Given the description of an element on the screen output the (x, y) to click on. 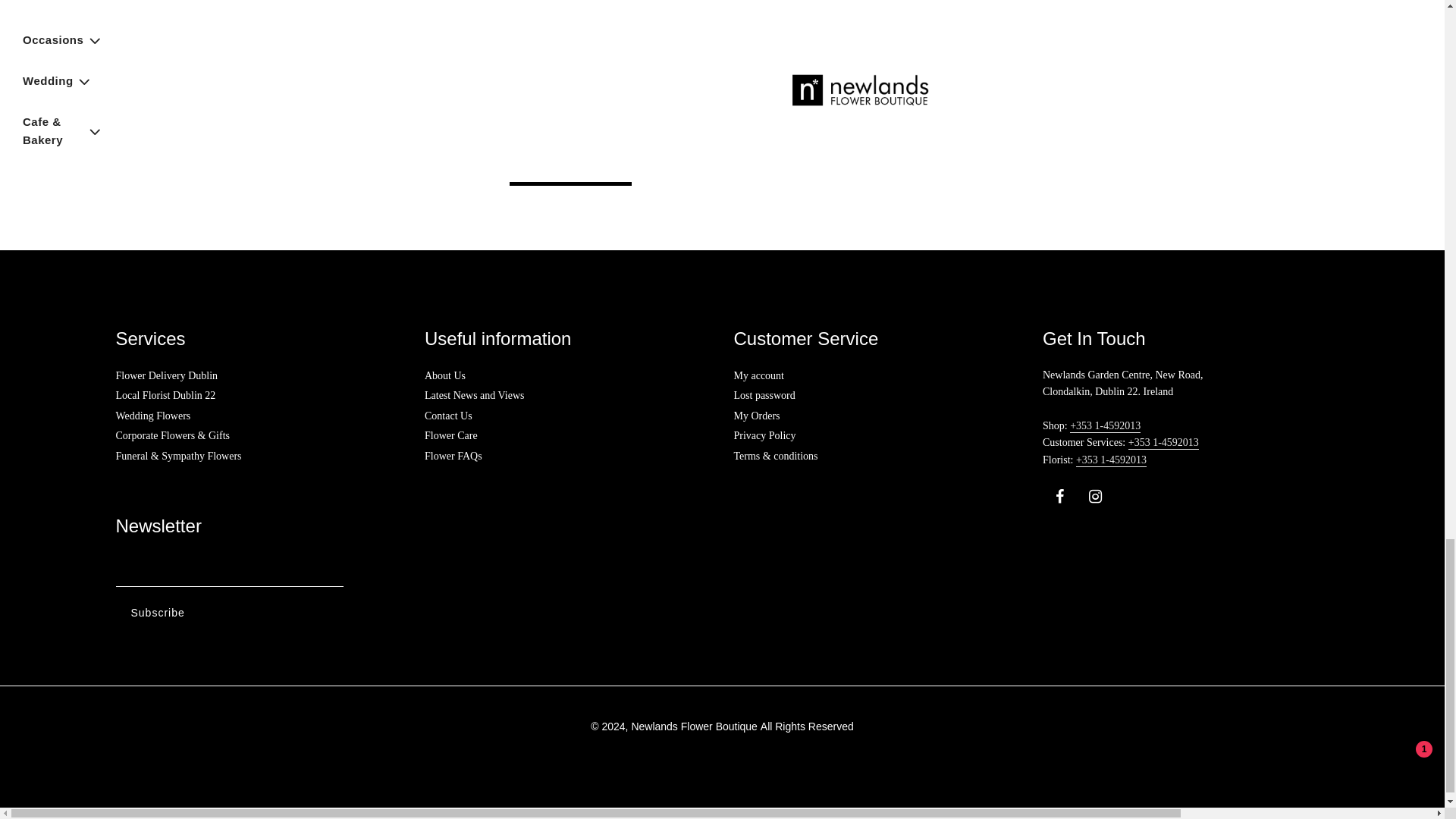
Arrangement made with the finest flowers (267, 36)
White Rose and Lily Bouquet (1176, 36)
Subscribe (157, 613)
Arrangement made with the finest flowers (873, 36)
